Given the description of an element on the screen output the (x, y) to click on. 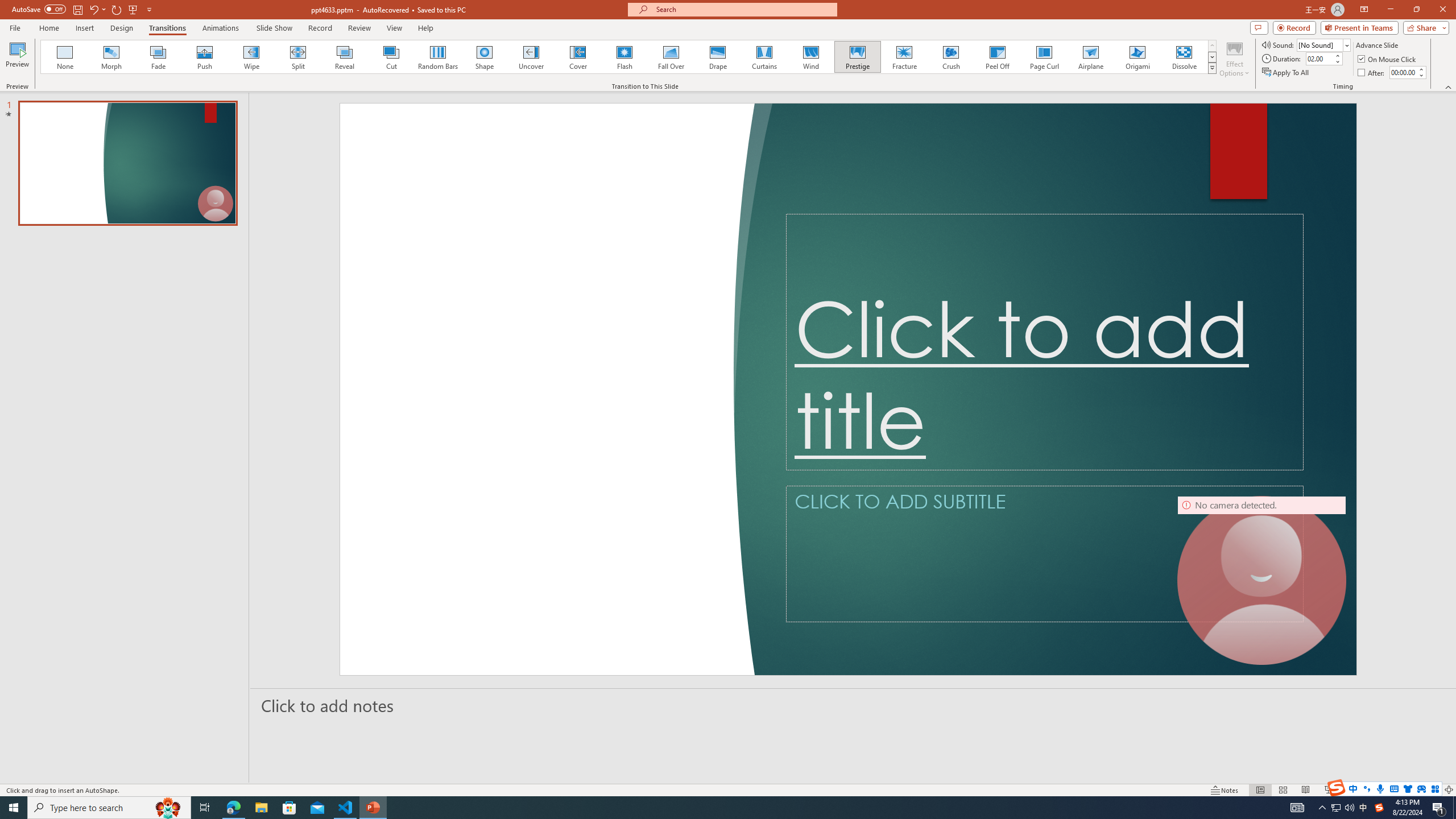
Morph (111, 56)
Apply To All (1286, 72)
On Mouse Click (1387, 58)
Split (298, 56)
Origami (1136, 56)
